Given the description of an element on the screen output the (x, y) to click on. 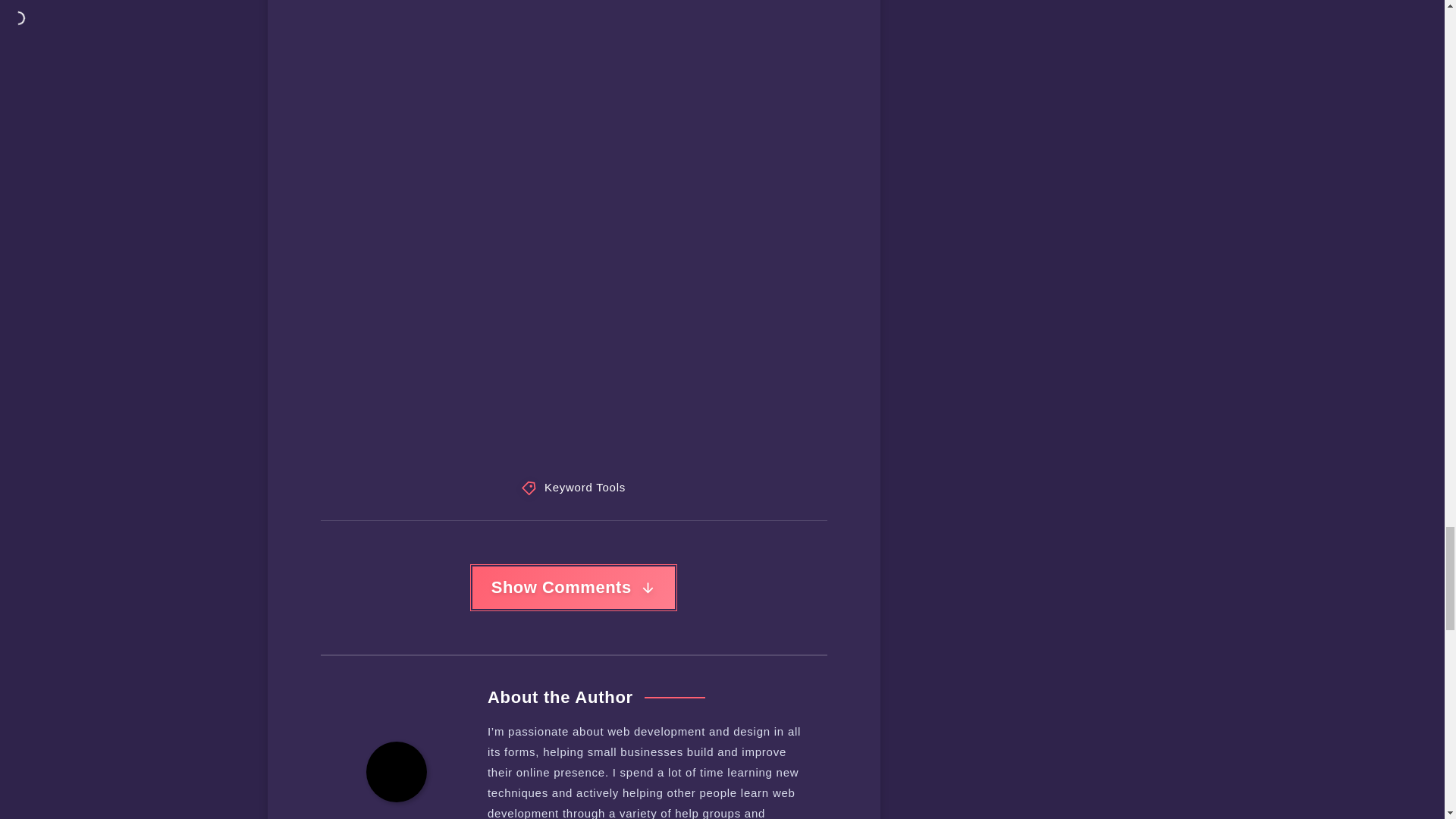
Fabio (396, 817)
Keyword Tools (585, 487)
Show Comments (573, 587)
